Given the description of an element on the screen output the (x, y) to click on. 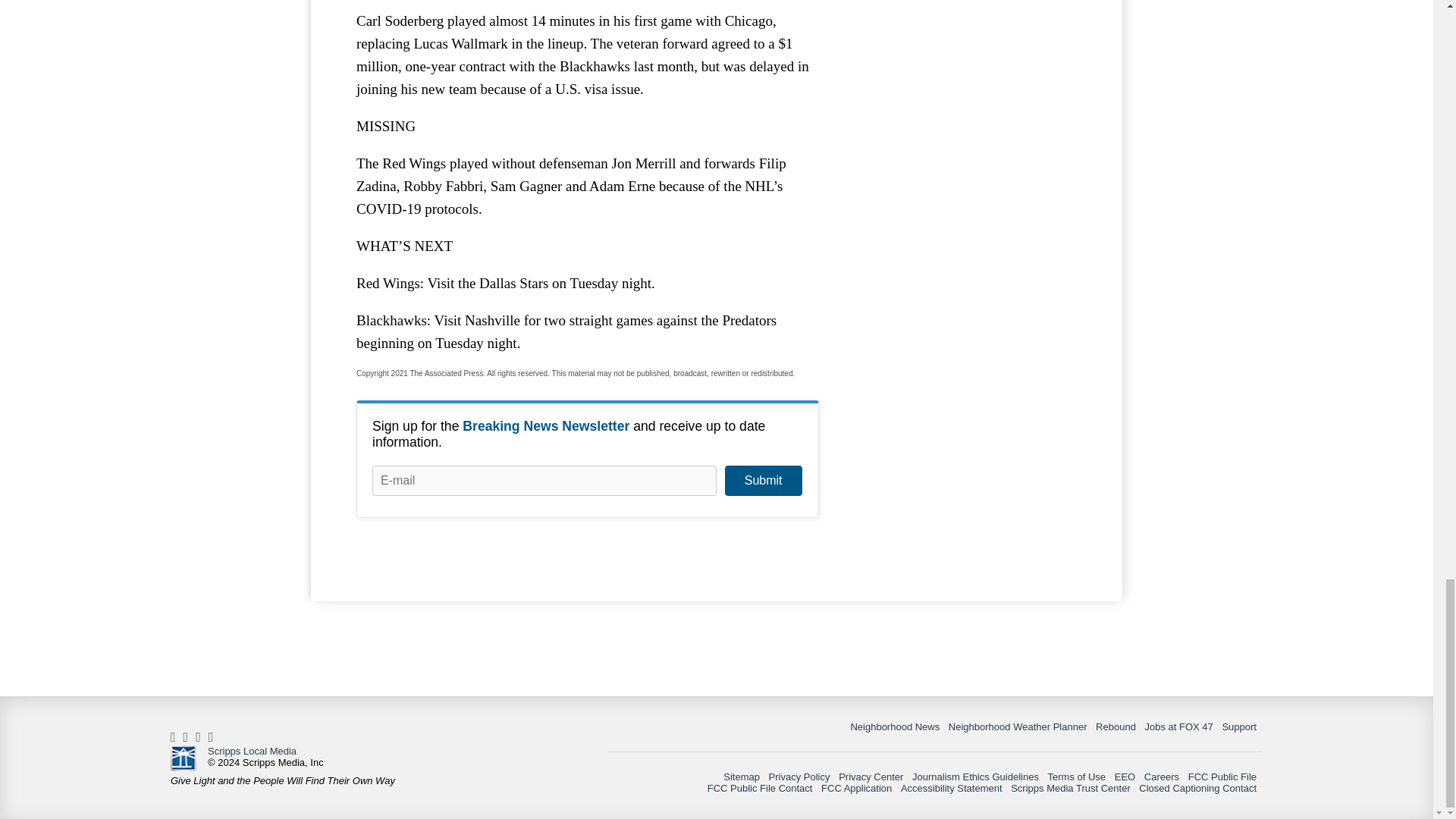
Submit (763, 481)
